Given the description of an element on the screen output the (x, y) to click on. 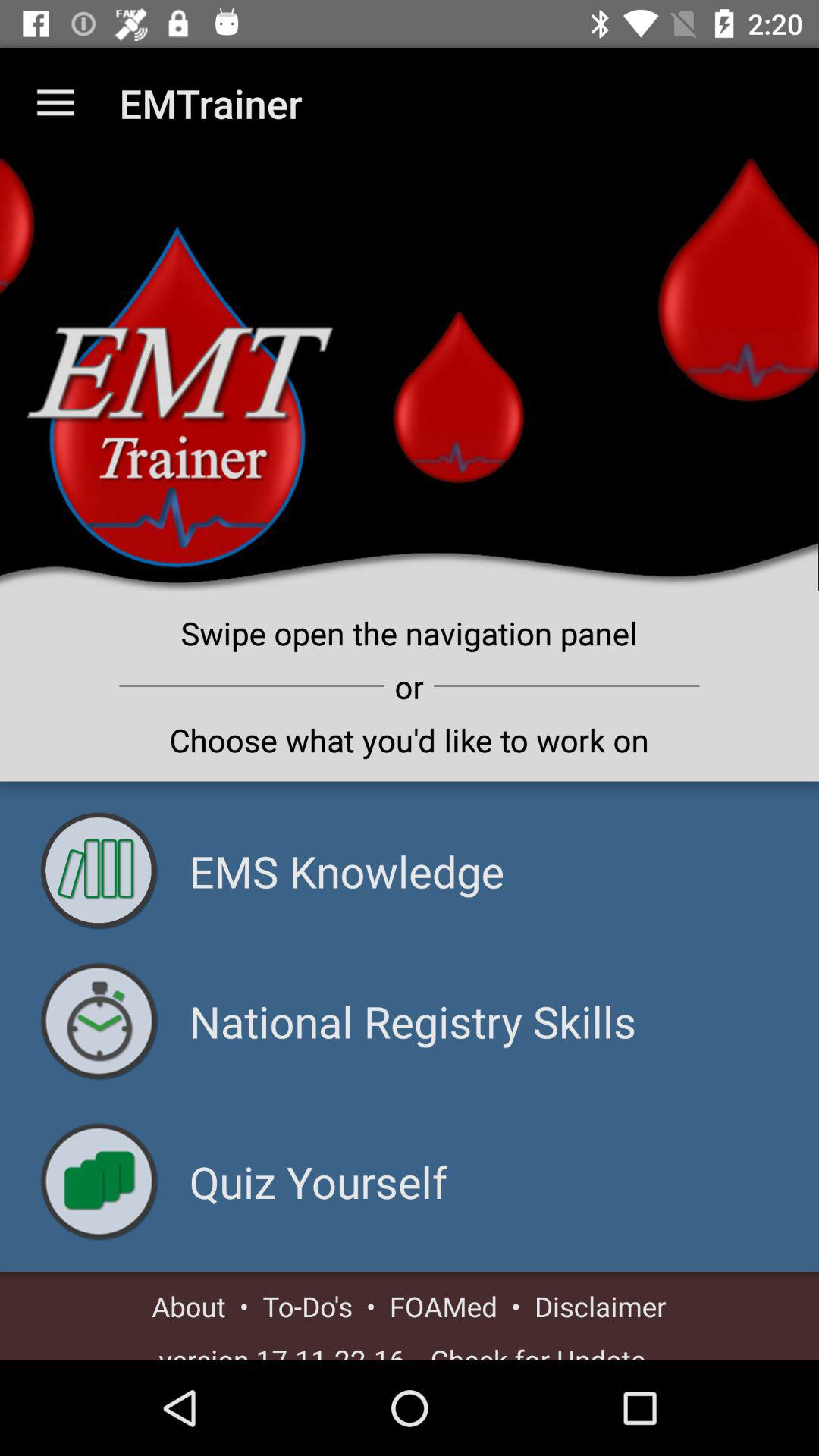
swipe to foamed (443, 1306)
